Given the description of an element on the screen output the (x, y) to click on. 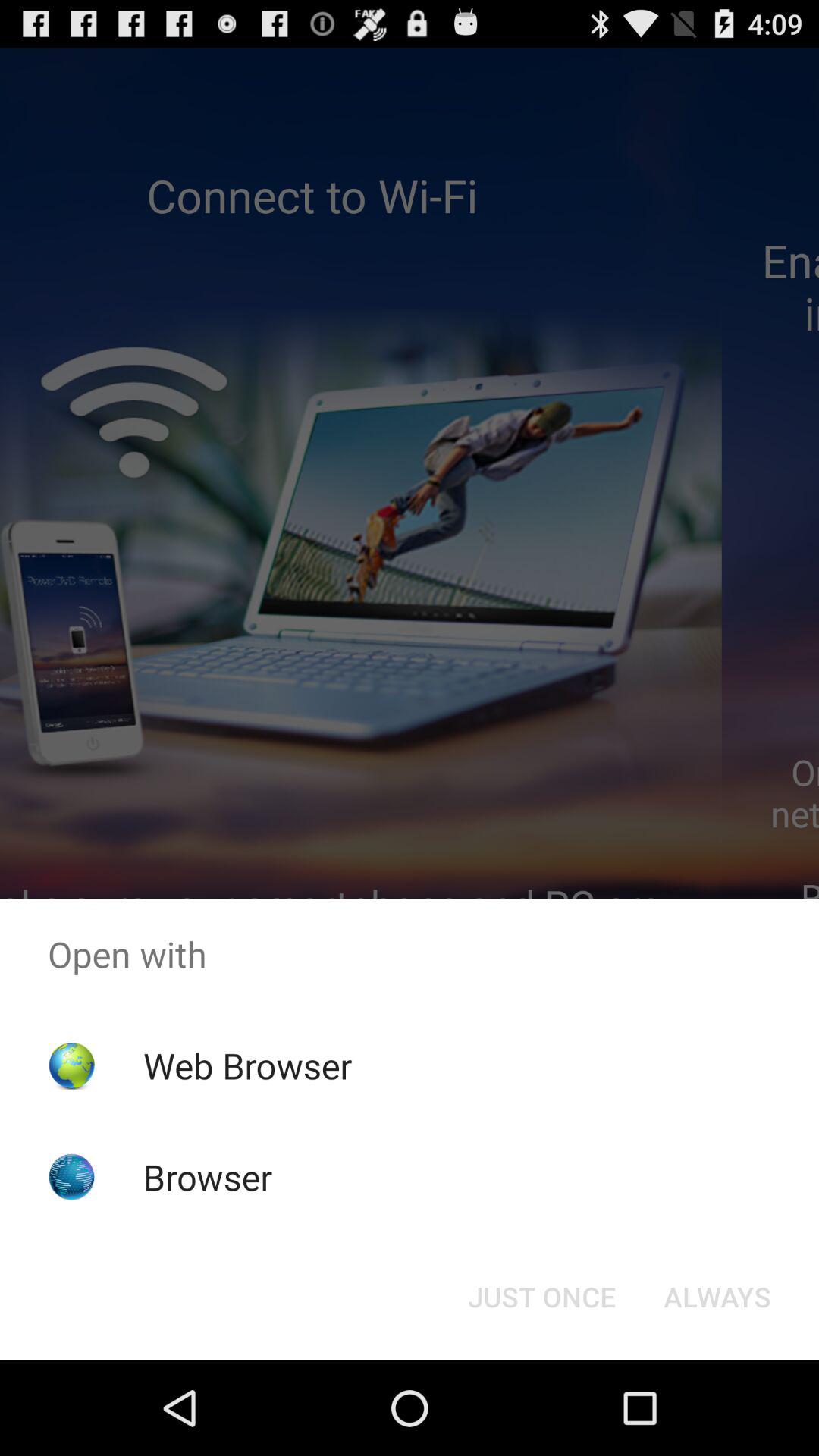
flip until always item (717, 1296)
